Given the description of an element on the screen output the (x, y) to click on. 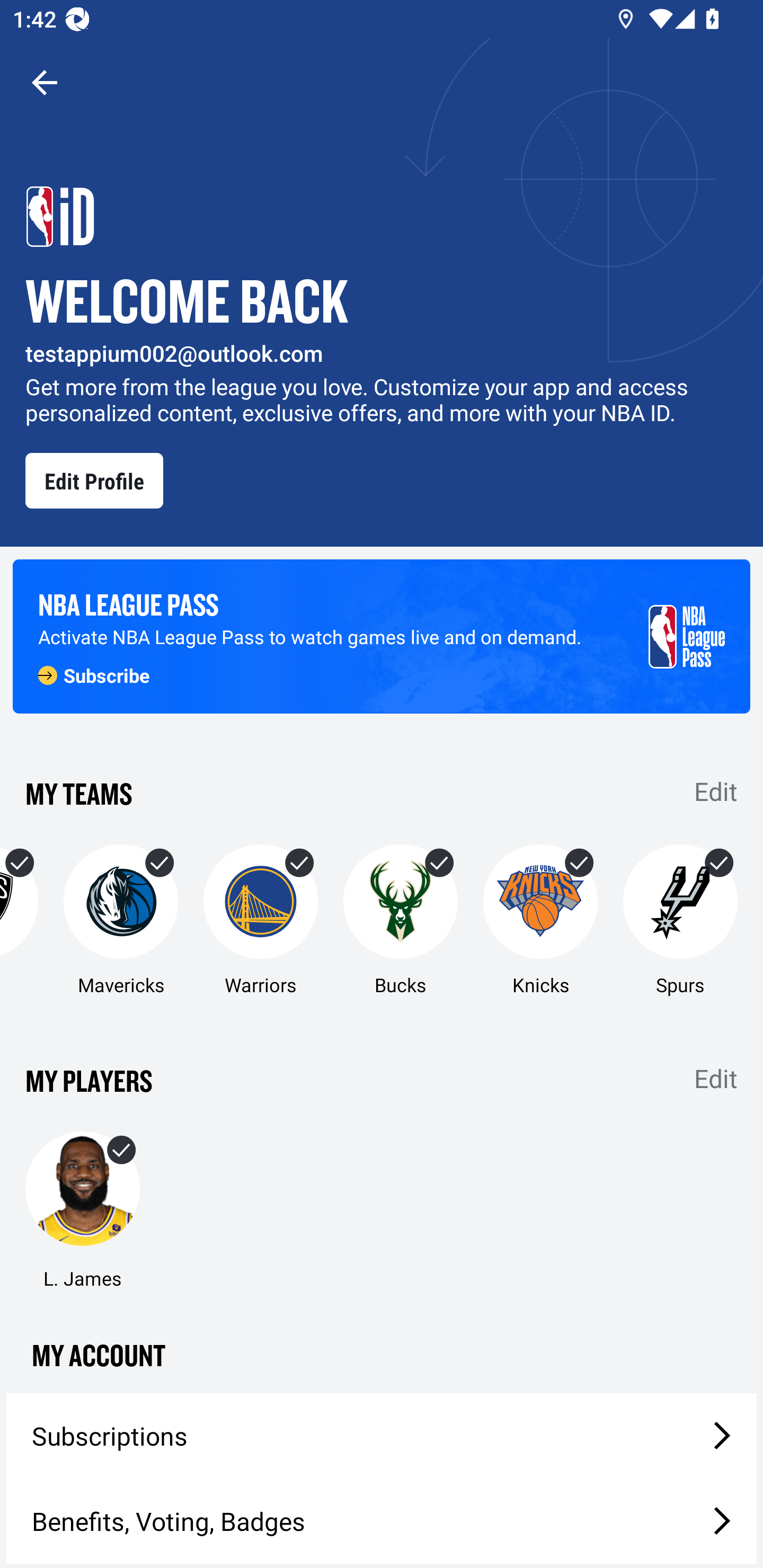
Navigate up (44, 82)
Edit Profile (94, 480)
Edit (715, 790)
Mavericks (120, 921)
Warriors (260, 921)
Bucks (400, 921)
Knicks (539, 921)
Spurs (680, 921)
Edit (715, 1078)
L. James (82, 1211)
Subscriptions (381, 1435)
Benefits, Voting, Badges (381, 1520)
